Given the description of an element on the screen output the (x, y) to click on. 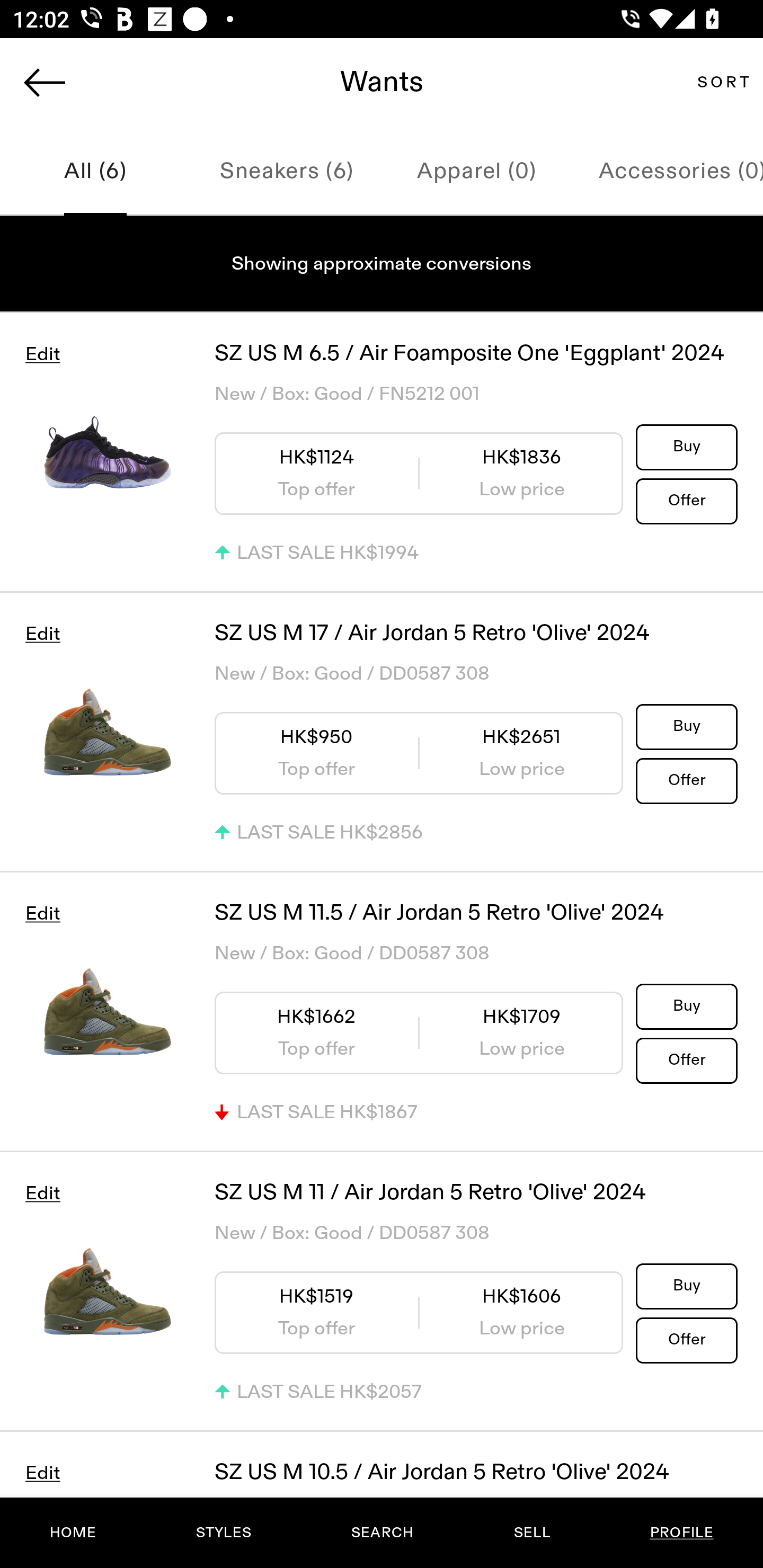
SORT (722, 81)
Sneakers (6) (285, 171)
Apparel (0) (476, 171)
Accessories (0) (667, 171)
Edit (42, 353)
Buy (686, 446)
HK$1124 HK$1836 Top offer Low price (418, 473)
Offer (686, 499)
Edit (42, 633)
Buy (686, 725)
HK$950 HK$2651 Top offer Low price (418, 752)
Offer (686, 779)
Edit (42, 913)
Buy (686, 1005)
HK$1662 HK$1709 Top offer Low price (418, 1032)
Offer (686, 1059)
Edit (42, 1192)
Buy (686, 1285)
HK$1519 HK$1606 Top offer Low price (418, 1312)
Offer (686, 1339)
Edit (42, 1472)
HOME (72, 1532)
STYLES (222, 1532)
SEARCH (381, 1532)
SELL (531, 1532)
PROFILE (681, 1532)
